Given the description of an element on the screen output the (x, y) to click on. 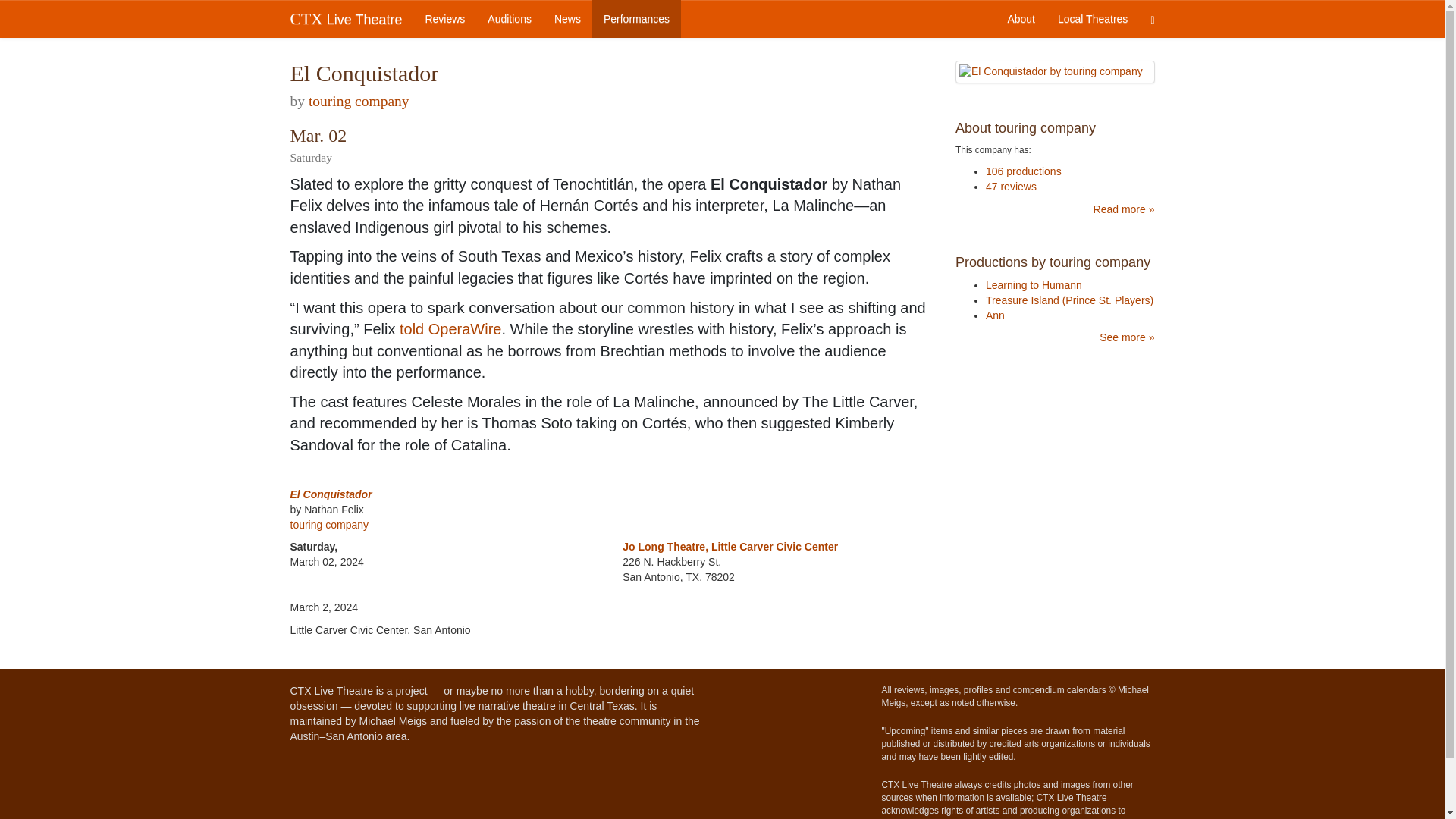
touring company (358, 100)
About (1020, 18)
Ann (994, 315)
CTX Live Theatre (346, 18)
Jo Long Theatre, Little Carver Civic Center (730, 546)
Performances (636, 18)
El Conquistador (330, 494)
106 productions (1023, 171)
News (567, 18)
told OperaWire (450, 329)
47 reviews (1010, 186)
touring company (328, 524)
Auditions (509, 18)
Learning to Humann (1033, 285)
Reviews (444, 18)
